Given the description of an element on the screen output the (x, y) to click on. 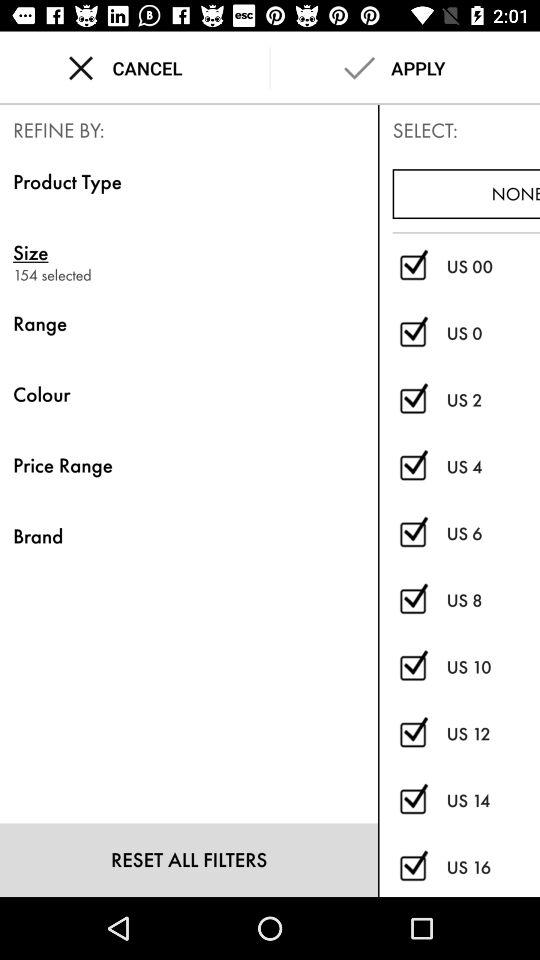
select the size (412, 667)
